Given the description of an element on the screen output the (x, y) to click on. 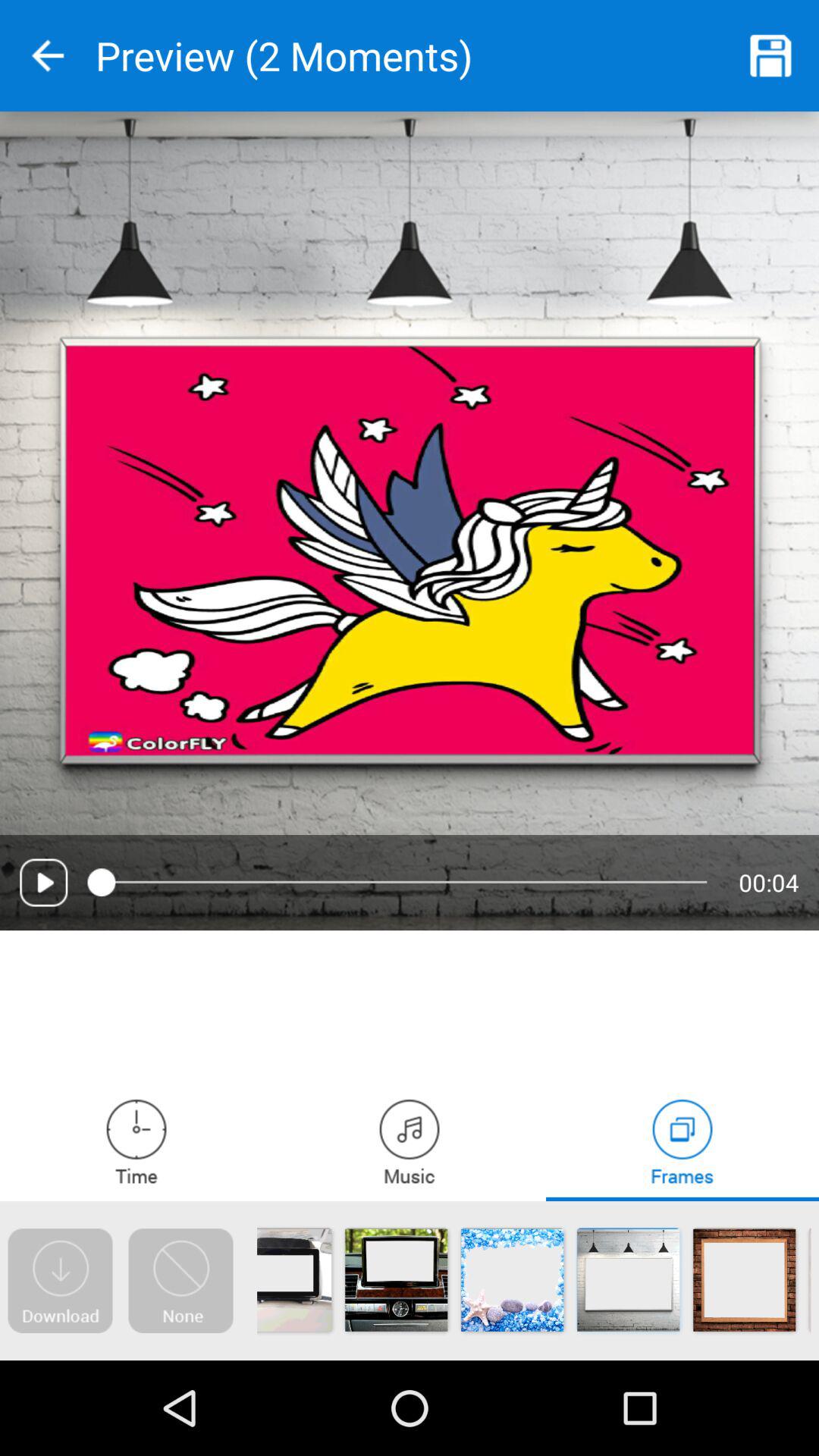
go back (47, 55)
